Given the description of an element on the screen output the (x, y) to click on. 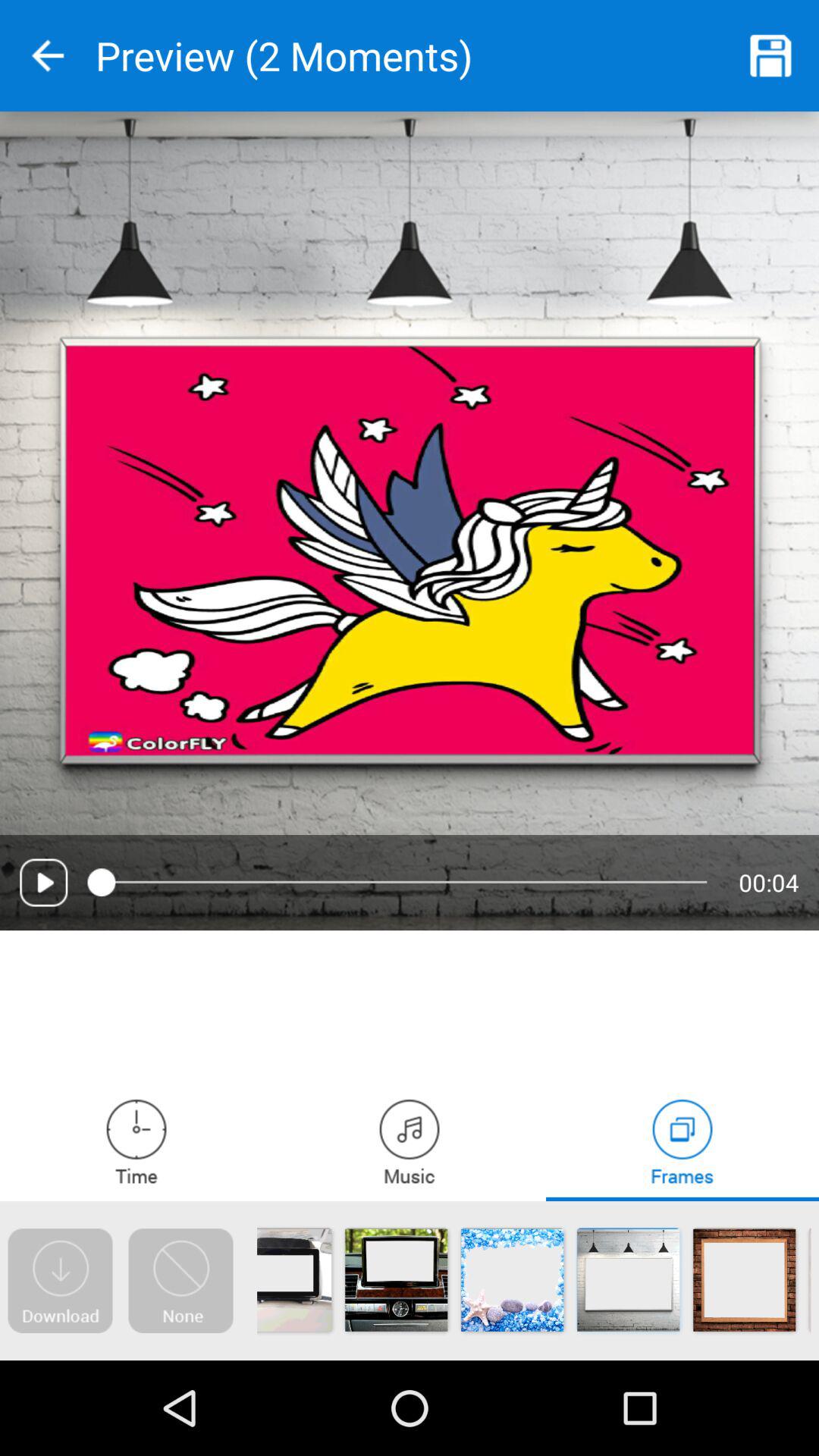
go back (47, 55)
